Given the description of an element on the screen output the (x, y) to click on. 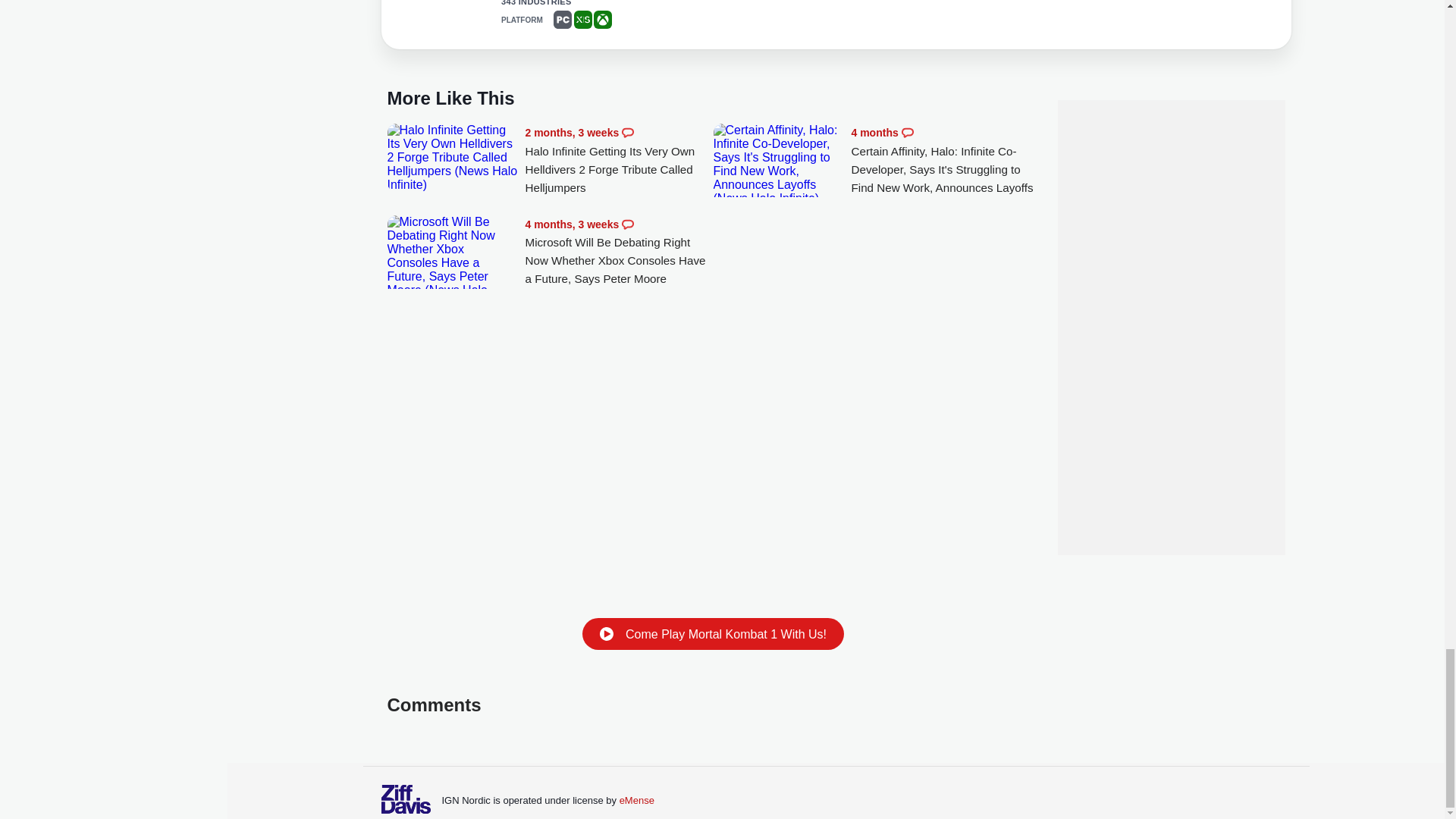
XBOXONE (602, 19)
Comments (627, 132)
Comments (907, 132)
XBOXSERIES (582, 19)
PC (562, 19)
Comments (627, 224)
